Given the description of an element on the screen output the (x, y) to click on. 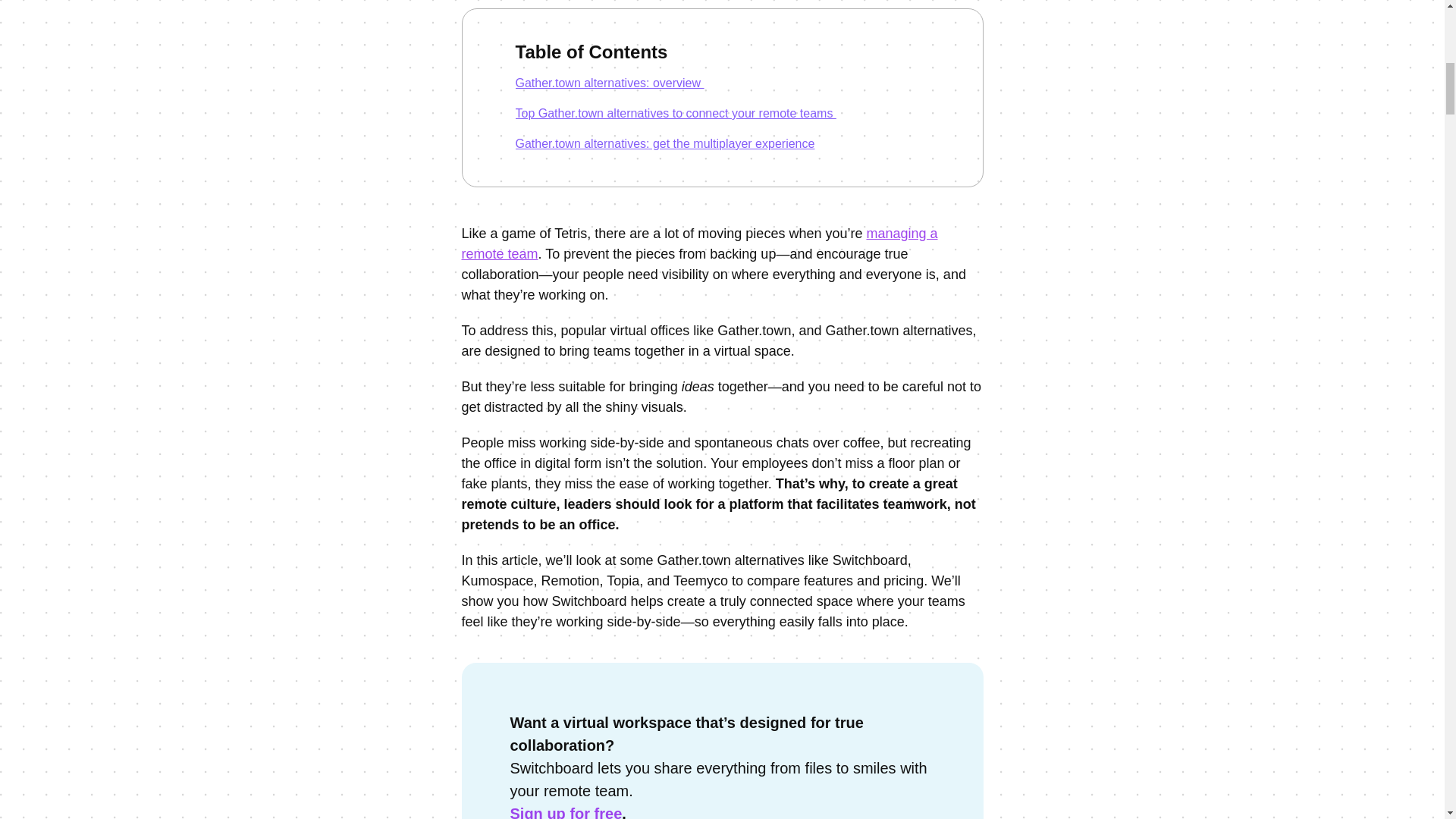
Top Gather.town alternatives to connect your remote teams  (722, 113)
Gather.town alternatives: overview  (722, 83)
